Given the description of an element on the screen output the (x, y) to click on. 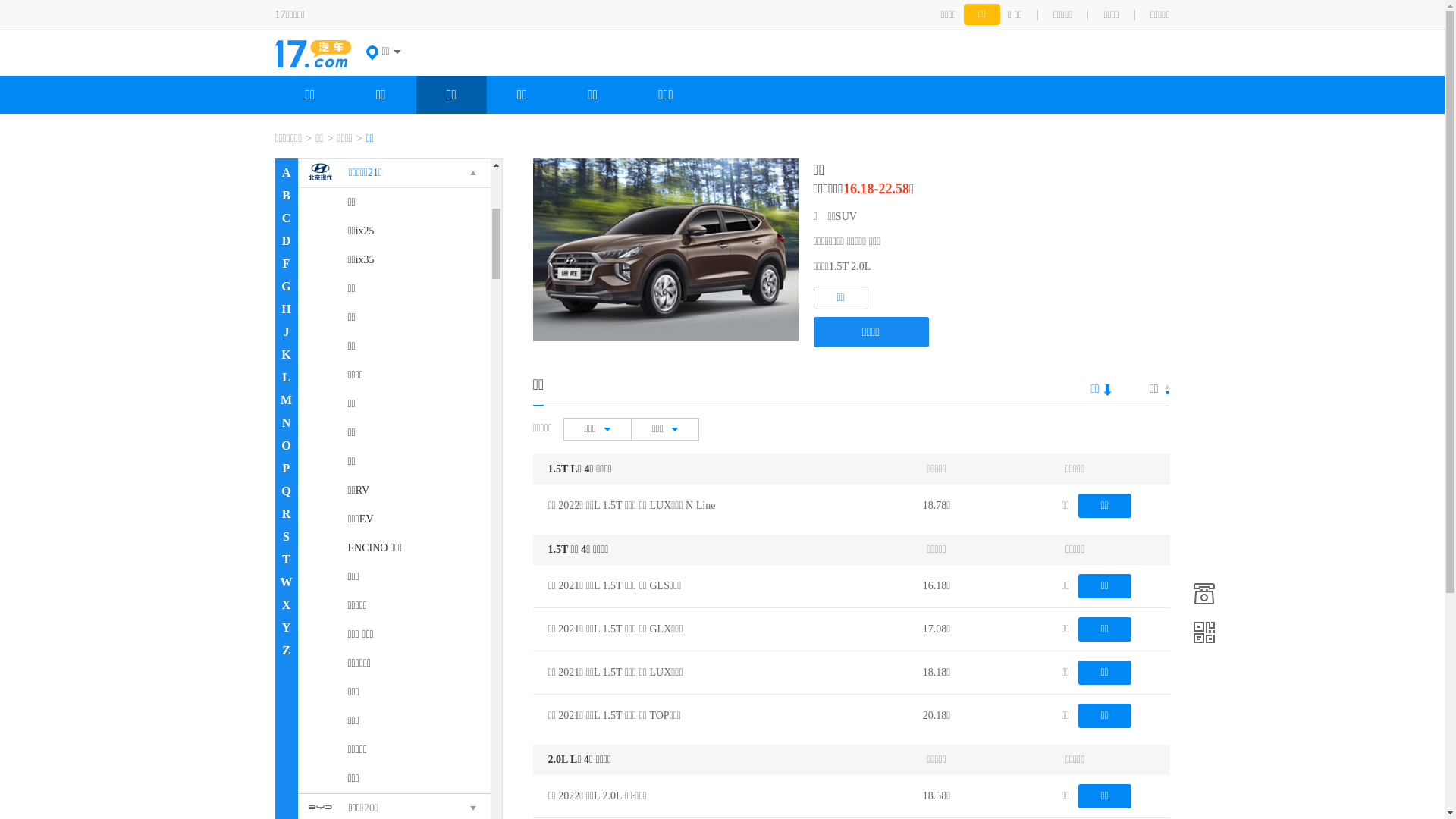
O Element type: text (285, 445)
K Element type: text (285, 354)
D Element type: text (285, 240)
A Element type: text (285, 172)
L Element type: text (285, 377)
Q Element type: text (285, 491)
H Element type: text (285, 309)
W Element type: text (285, 582)
G Element type: text (285, 286)
X Element type: text (285, 604)
Z Element type: text (285, 650)
J Element type: text (285, 331)
B Element type: text (285, 195)
S Element type: text (285, 536)
M Element type: text (285, 400)
C Element type: text (285, 218)
P Element type: text (285, 468)
F Element type: text (285, 263)
R Element type: text (285, 513)
T Element type: text (285, 559)
N Element type: text (285, 422)
Y Element type: text (285, 627)
